Given the description of an element on the screen output the (x, y) to click on. 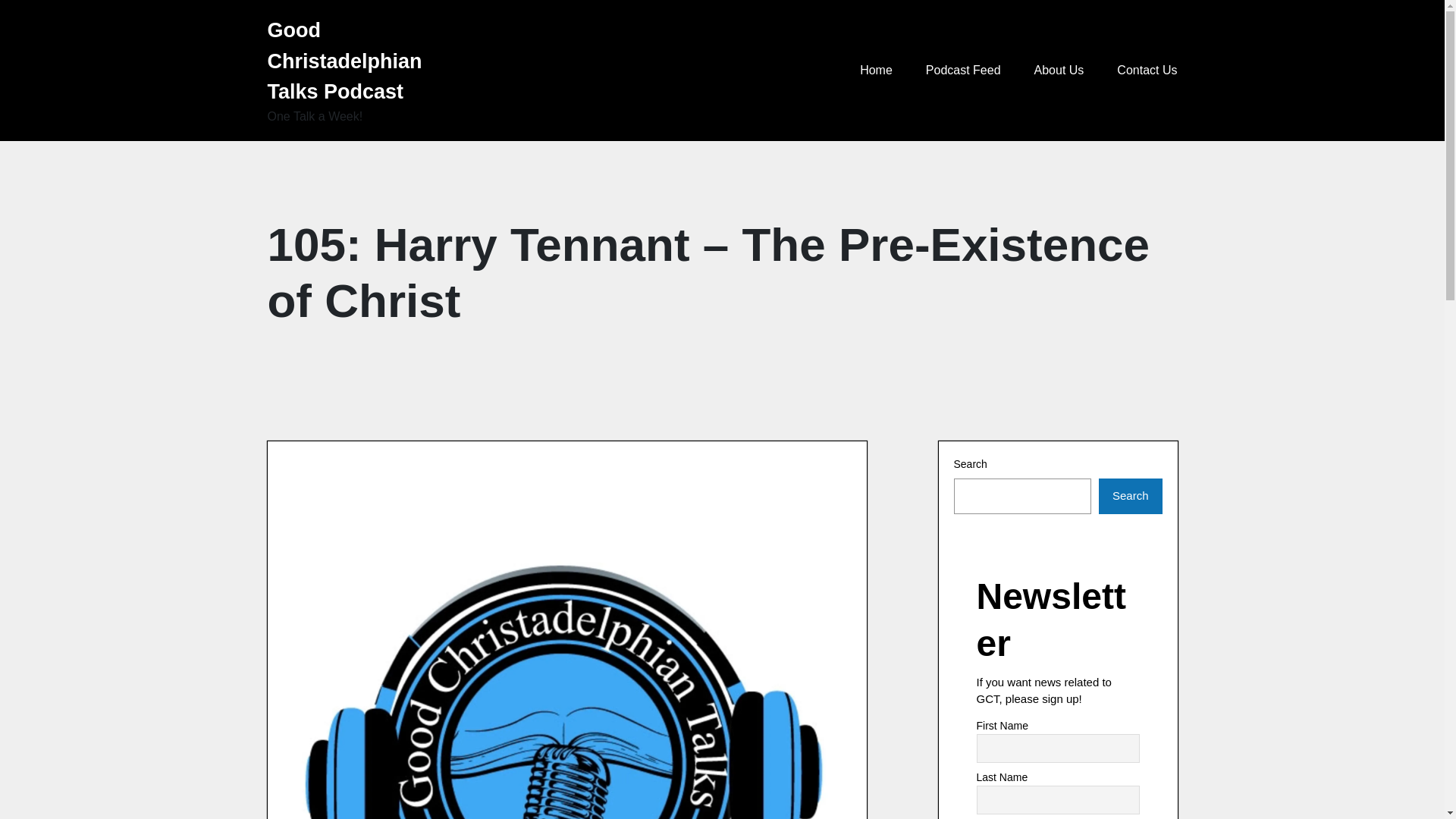
Good Christadelphian Talks Podcast (357, 61)
Contact Us (1147, 70)
About Us (1059, 70)
Podcast Feed (963, 70)
Search (1130, 496)
Home (875, 70)
Good Christadelphian Talks Podcast (357, 61)
